Given the description of an element on the screen output the (x, y) to click on. 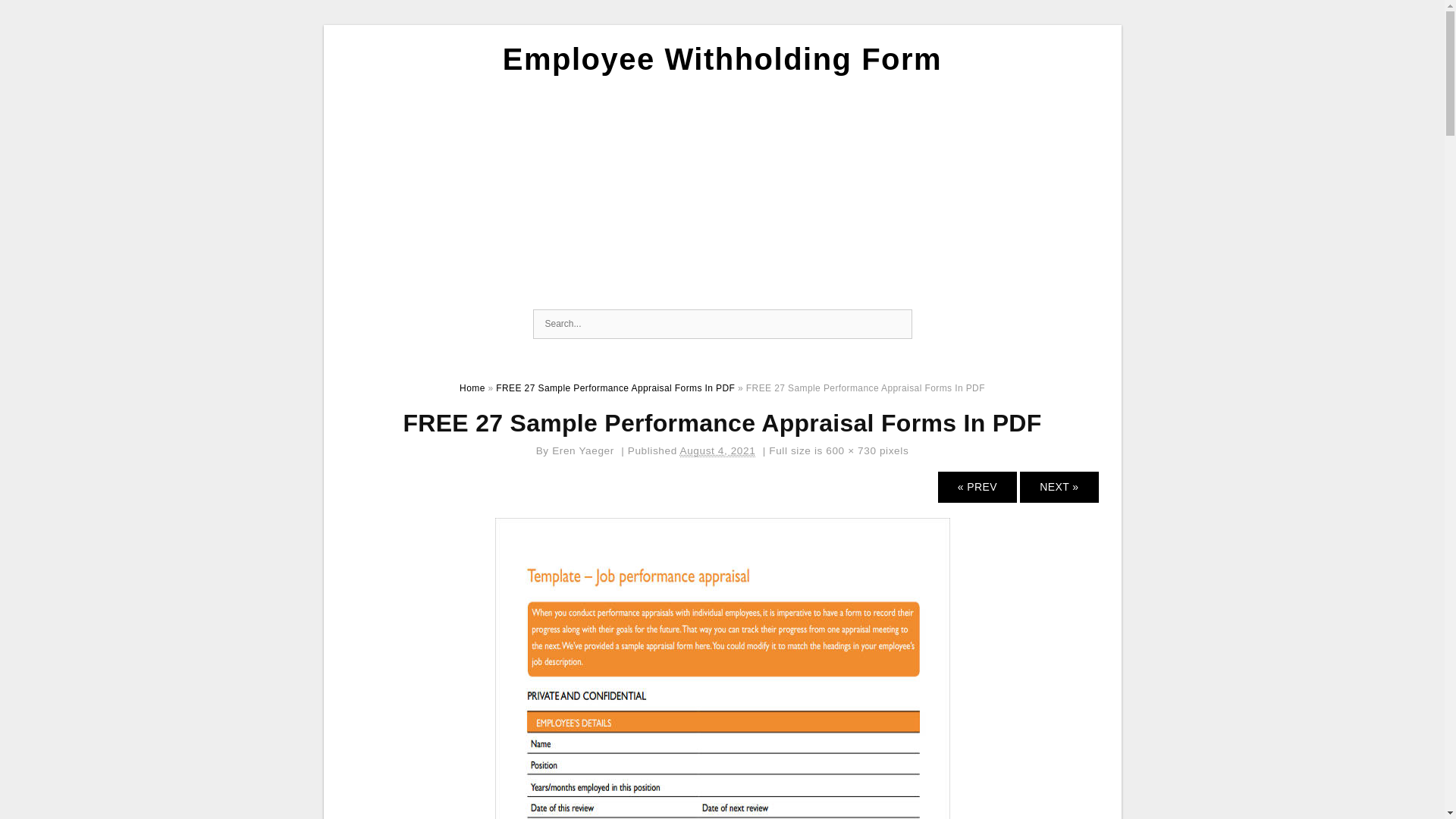
FREE 27 Sample Performance Appraisal Forms In PDF (722, 793)
12:35 am (717, 451)
FREE 27 Sample Performance Appraisal Forms In PDF (615, 388)
Search for: (721, 324)
Search (895, 324)
View all posts by Eren Yaeger (582, 450)
Link to full-size image (850, 450)
Home (472, 388)
Eren Yaeger (582, 450)
Search (895, 324)
Search (895, 324)
Employee Withholding Form (722, 59)
